Given the description of an element on the screen output the (x, y) to click on. 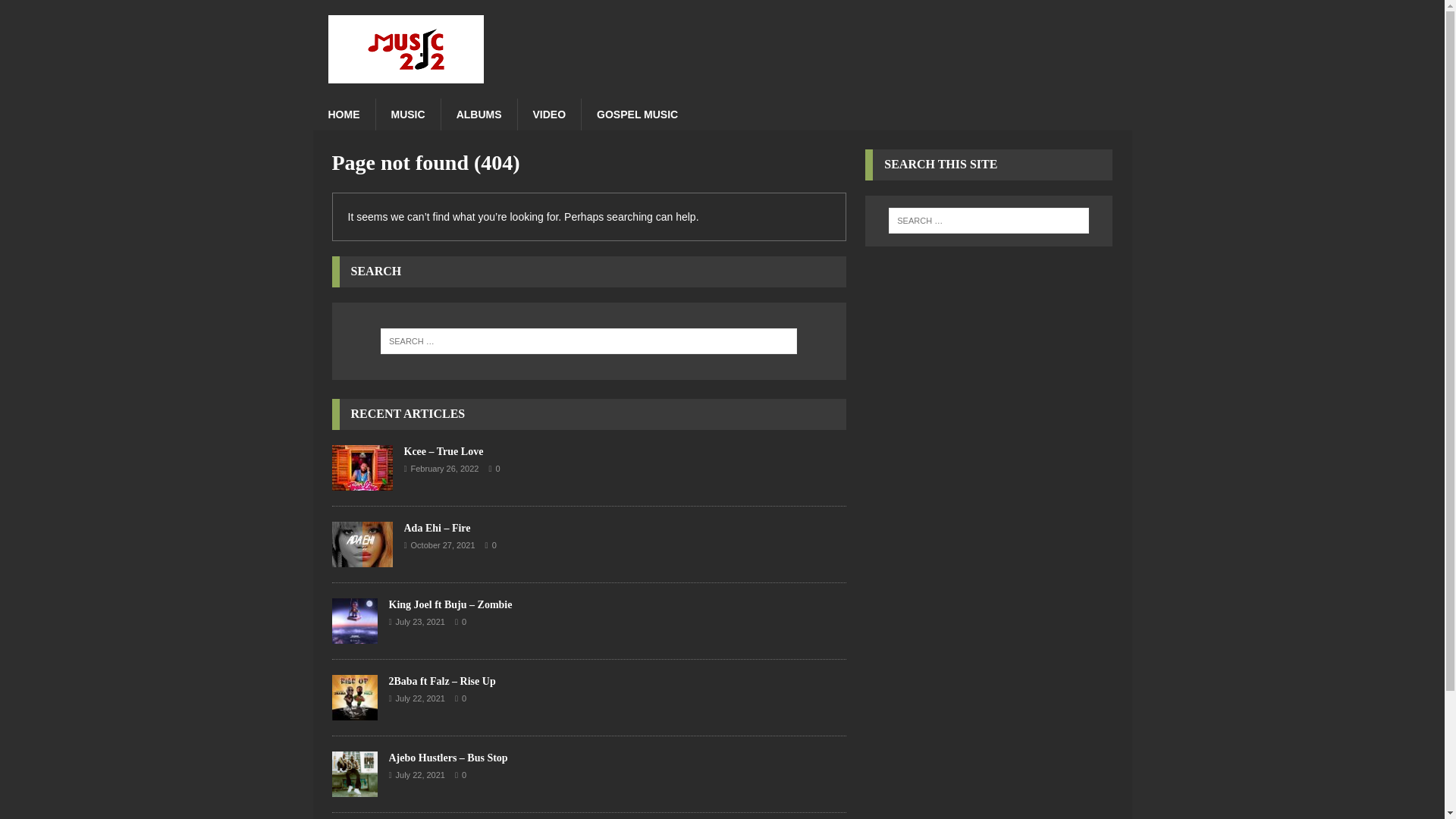
Search (56, 11)
GOSPEL MUSIC (636, 114)
VIDEO (548, 114)
ALBUMS (478, 114)
MUSIC (406, 114)
HOME (343, 114)
